Given the description of an element on the screen output the (x, y) to click on. 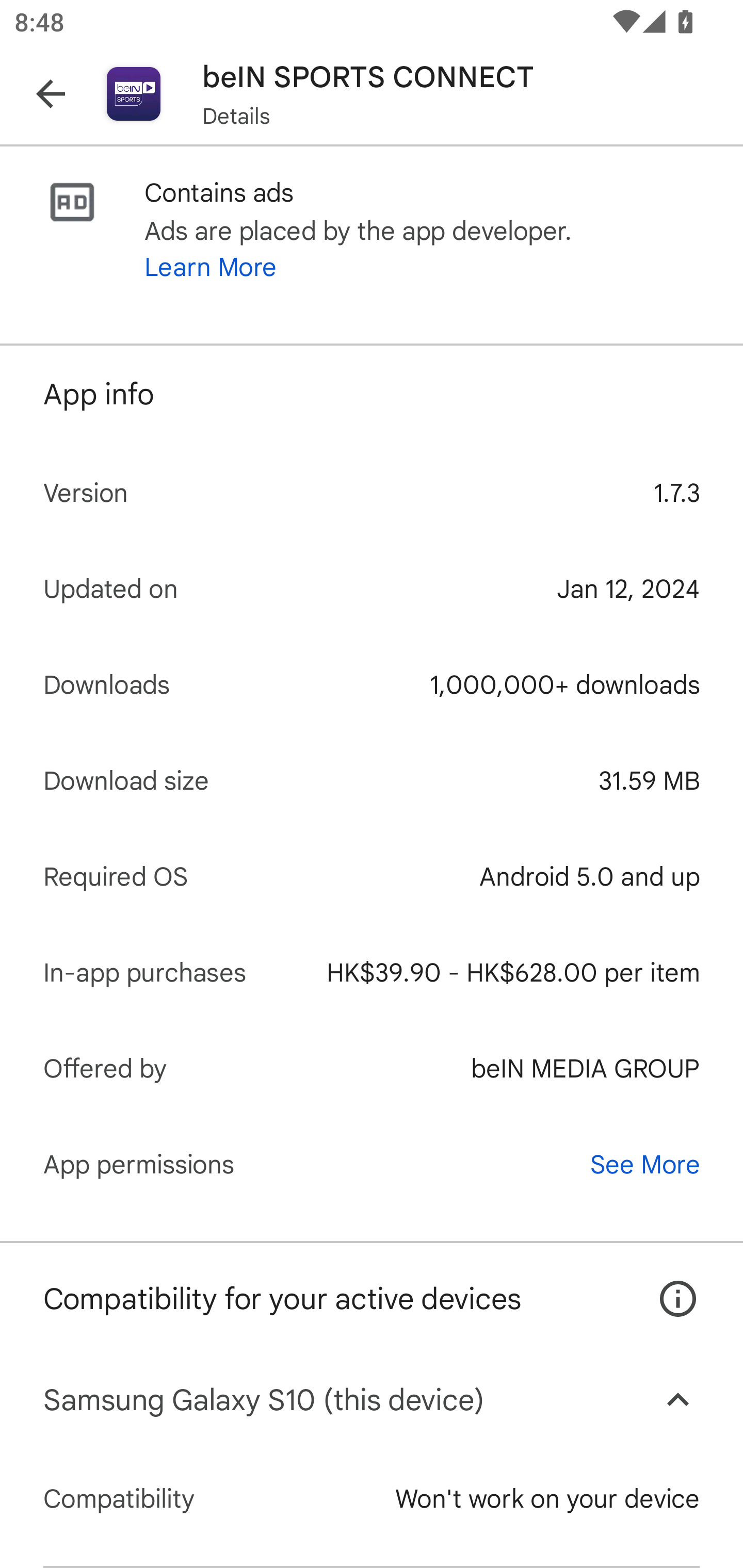
Navigate up (50, 93)
App permissions See More (371, 1164)
How this App works on your devices. (666, 1284)
Samsung Galaxy S10 (this device) Collapse (371, 1400)
Collapse (677, 1400)
